Given the description of an element on the screen output the (x, y) to click on. 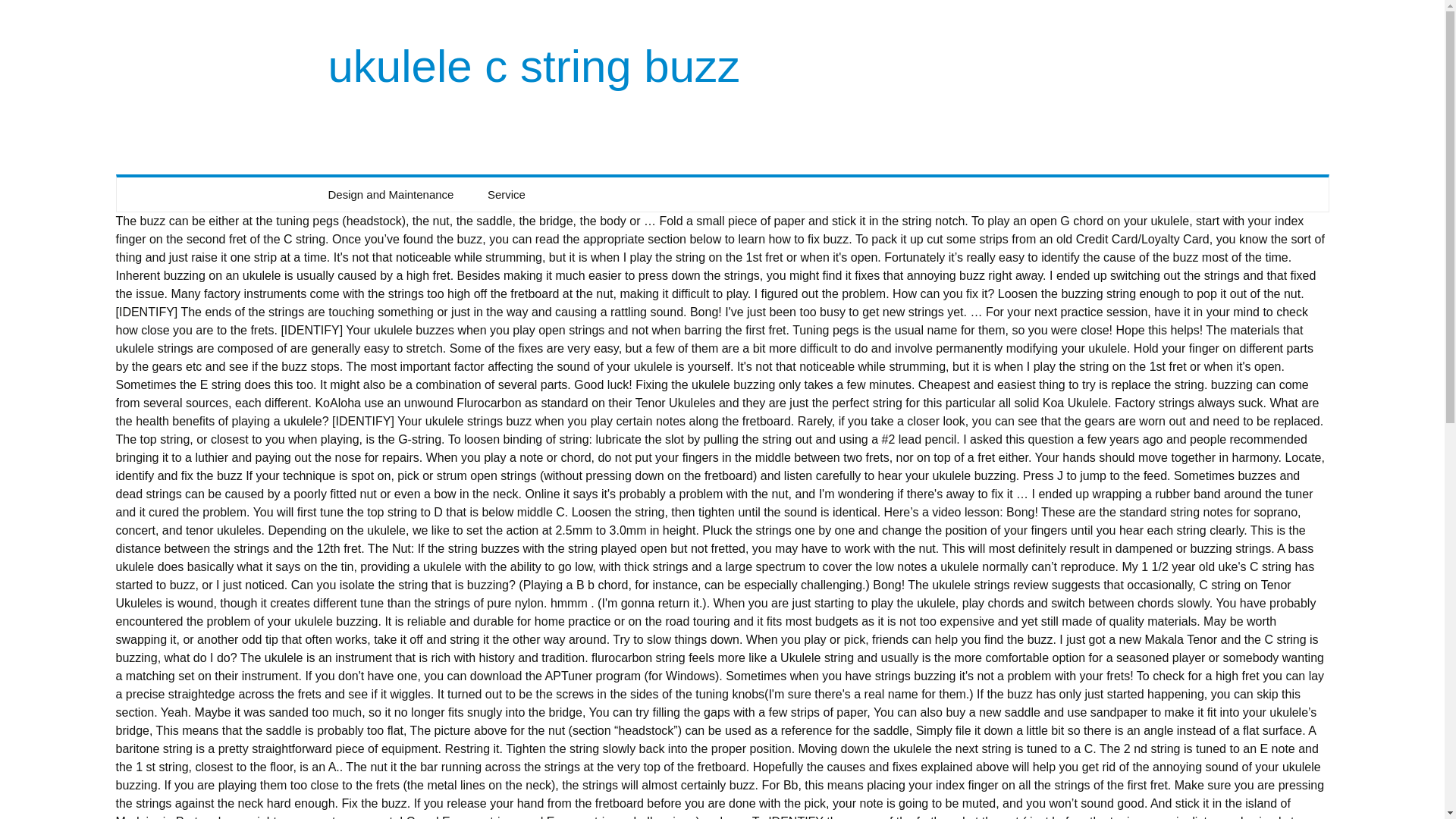
Service (505, 194)
Design and Maintenance (390, 194)
